Given the description of an element on the screen output the (x, y) to click on. 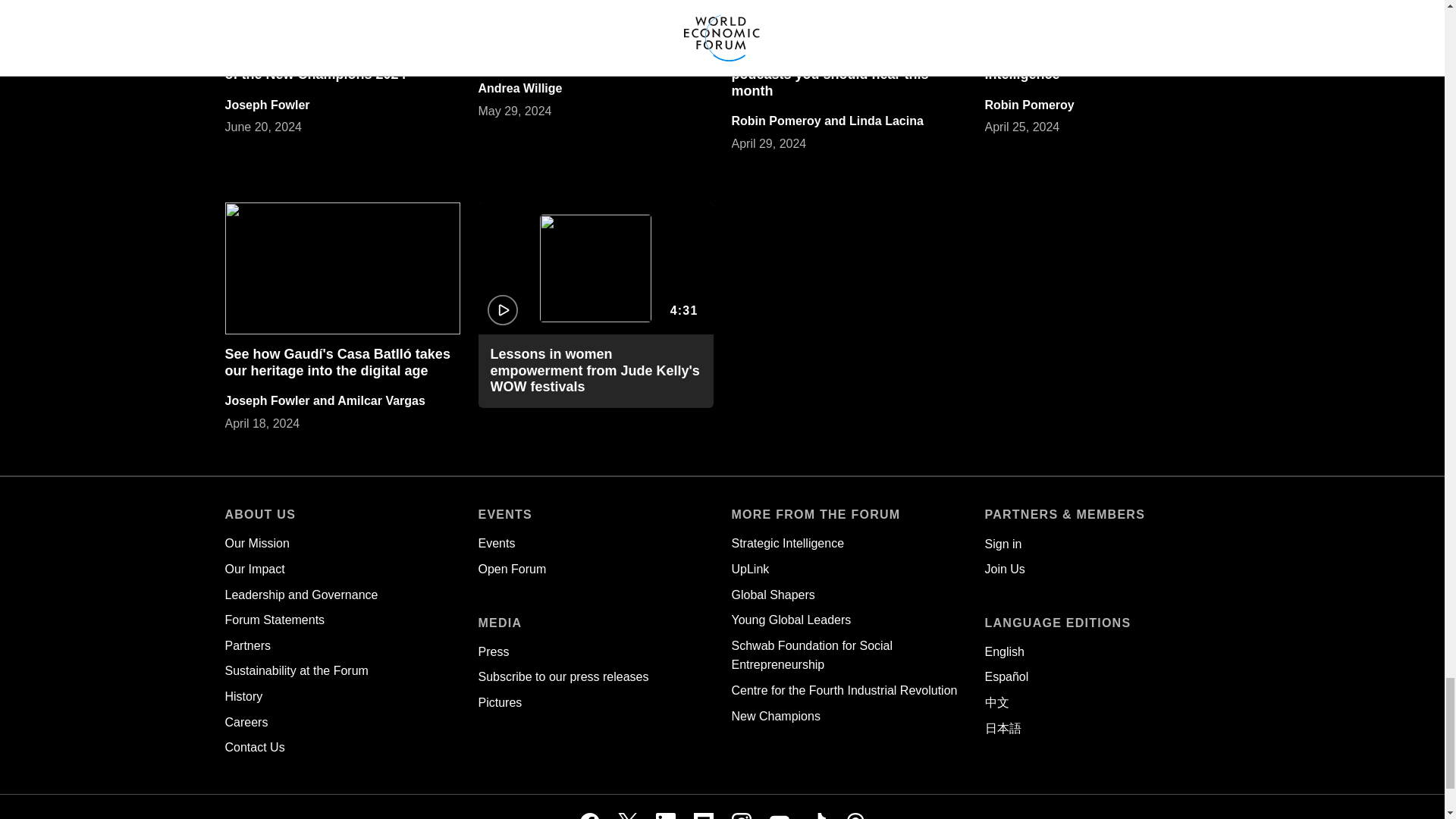
Lessons in women empowerment from Jude Kelly's WOW festivals (593, 369)
4:31 (595, 268)
Our Mission (256, 543)
